Given the description of an element on the screen output the (x, y) to click on. 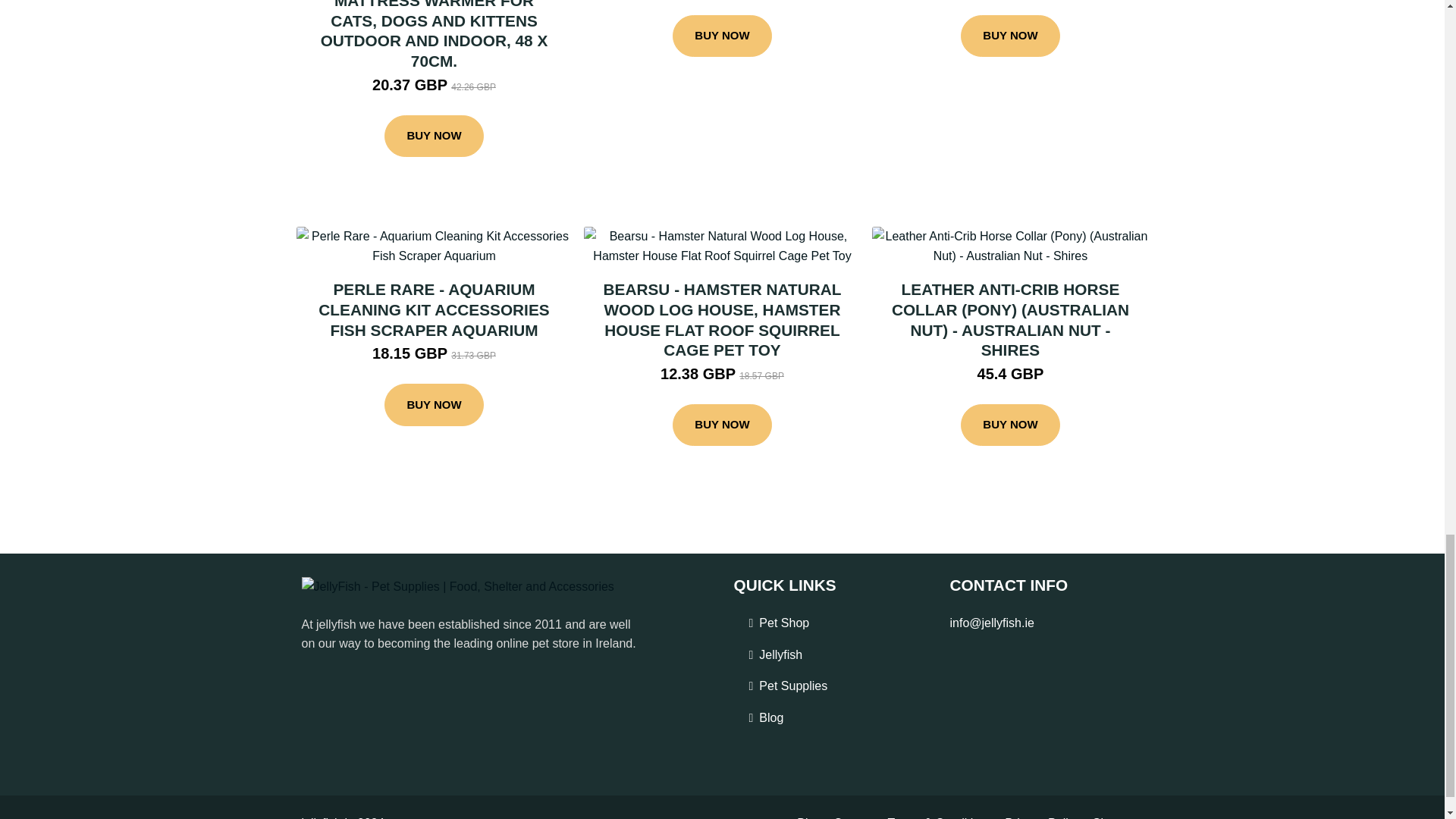
BUY NOW (433, 136)
BUY NOW (721, 36)
